Given the description of an element on the screen output the (x, y) to click on. 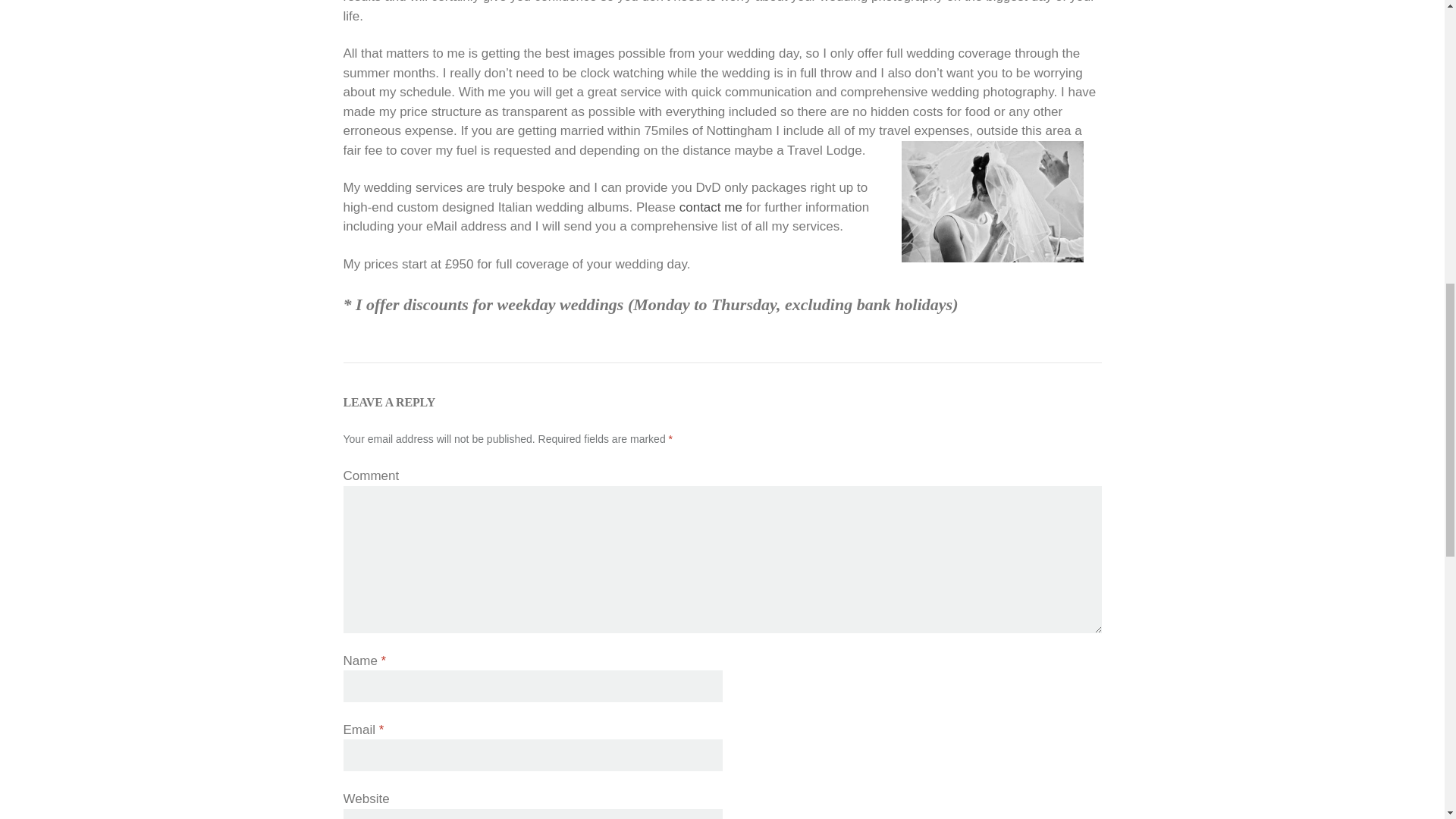
contact me (710, 206)
